Given the description of an element on the screen output the (x, y) to click on. 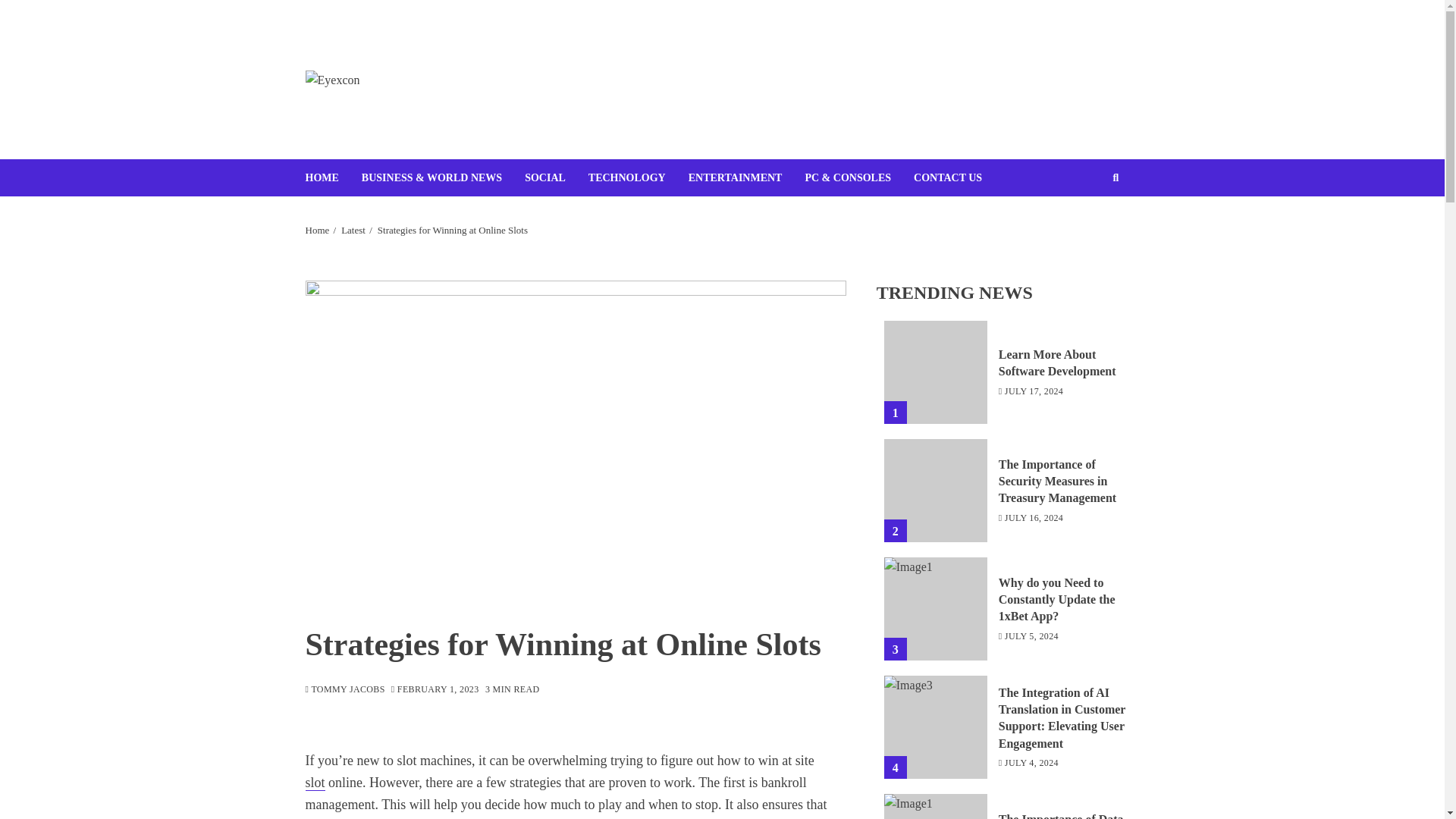
Home (316, 230)
ENTERTAINMENT (746, 177)
Strategies for Winning at Online Slots (452, 230)
slot (314, 782)
CONTACT US (959, 177)
Latest (352, 230)
HOME (332, 177)
TOMMY JACOBS (344, 689)
Search (1116, 177)
TECHNOLOGY (638, 177)
Search (1092, 223)
Learn More About Software Development (935, 372)
SOCIAL (556, 177)
The Importance of Security Measures in Treasury Management (935, 490)
Learn More About Software Development (1057, 363)
